Given the description of an element on the screen output the (x, y) to click on. 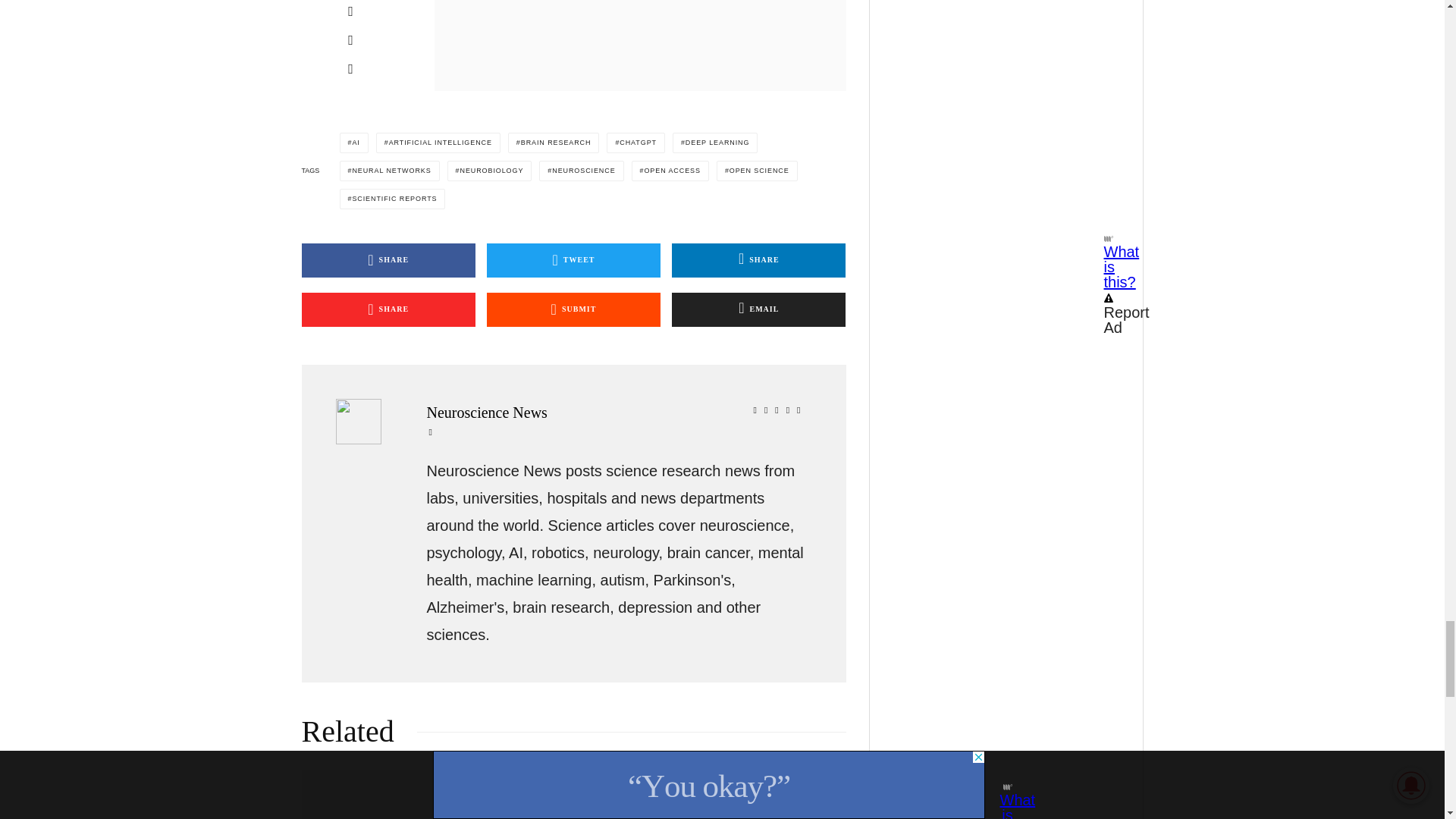
AI (353, 142)
SHARE (388, 260)
OPEN SCIENCE (756, 170)
EMAIL (758, 309)
TWEET (573, 260)
BRAIN RESEARCH (553, 142)
SUBMIT (573, 309)
NEURAL NETWORKS (389, 170)
SHARE (388, 309)
NEUROSCIENCE (580, 170)
ARTIFICIAL INTELLIGENCE (437, 142)
OPEN ACCESS (670, 170)
SHARE (758, 260)
NEUROBIOLOGY (489, 170)
DEEP LEARNING (714, 142)
